Given the description of an element on the screen output the (x, y) to click on. 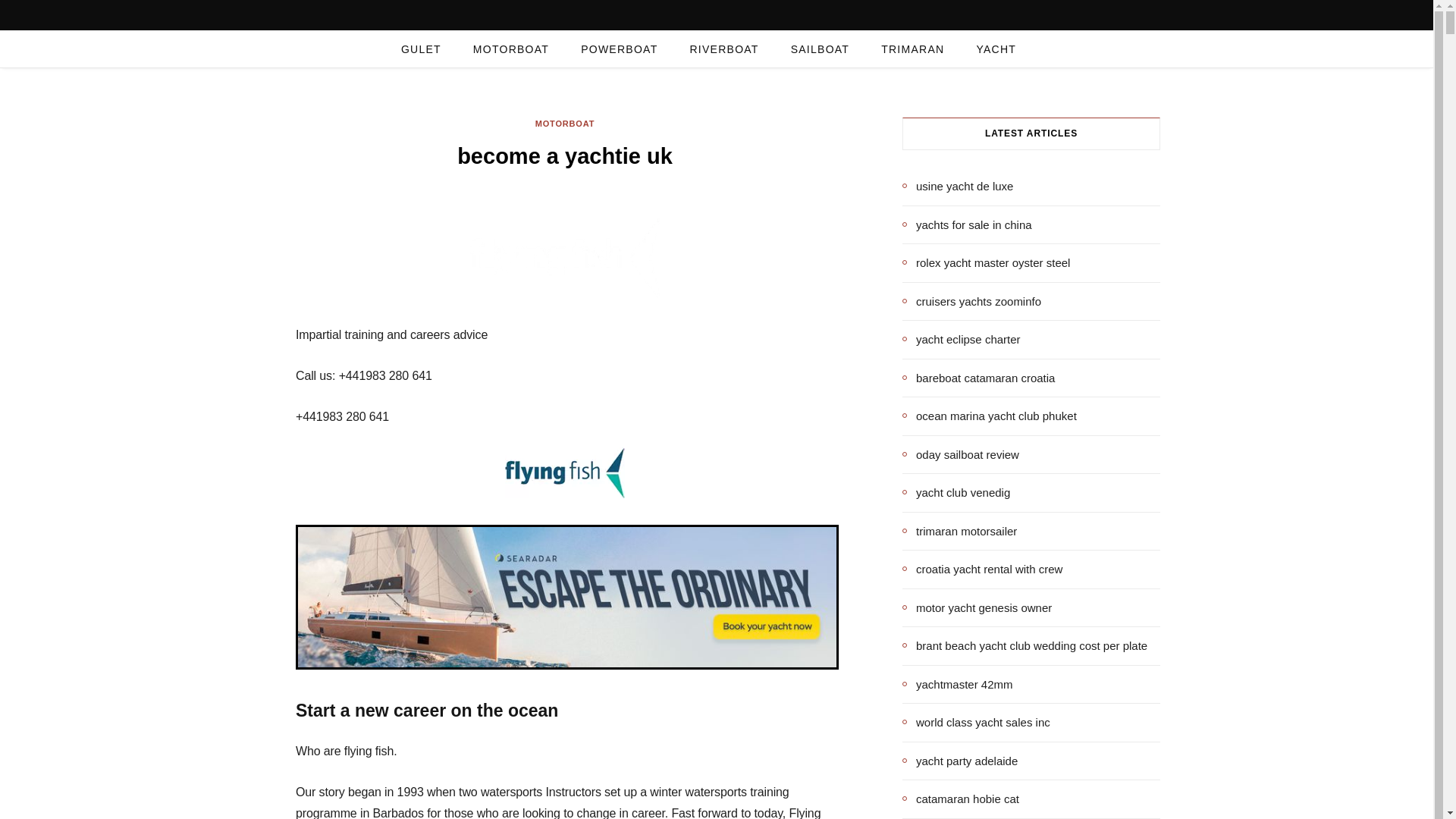
croatia yacht rental with crew (982, 569)
yachtmaster 42mm (957, 684)
motor yacht genesis owner (976, 607)
cruisers yachts zoominfo (971, 301)
POWERBOAT (618, 48)
TRIMARAN (911, 48)
ocean marina yacht club phuket (989, 415)
RIVERBOAT (723, 48)
yacht eclipse charter (961, 339)
catamaran hobie cat (960, 799)
bareboat catamaran croatia (978, 378)
brant beach yacht club wedding cost per plate (1024, 646)
GULET (421, 48)
trimaran motorsailer (959, 531)
MOTORBOAT (510, 48)
